Given the description of an element on the screen output the (x, y) to click on. 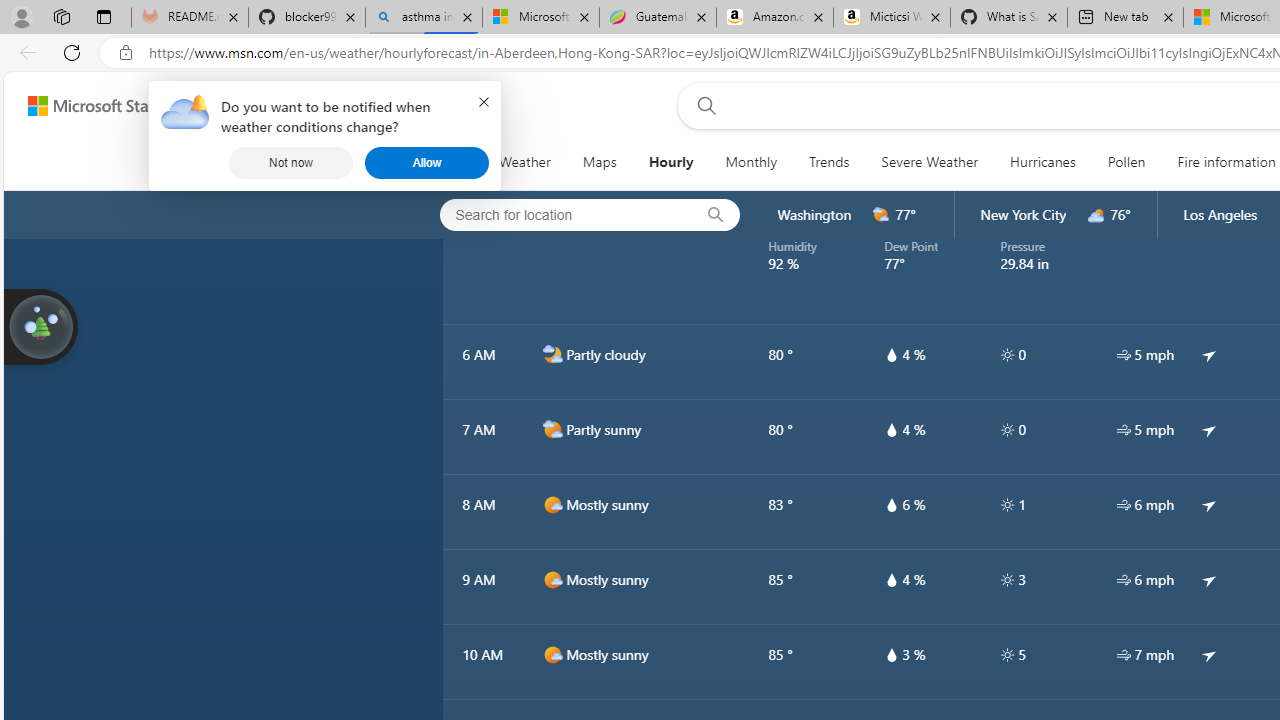
asthma inhaler - Search (424, 17)
Trends (828, 162)
Hurricanes (1042, 162)
hourlyTable/uv (1007, 654)
Join us in planting real trees to help our planet! (40, 325)
Maps (599, 162)
Severe Weather (929, 162)
